Given the description of an element on the screen output the (x, y) to click on. 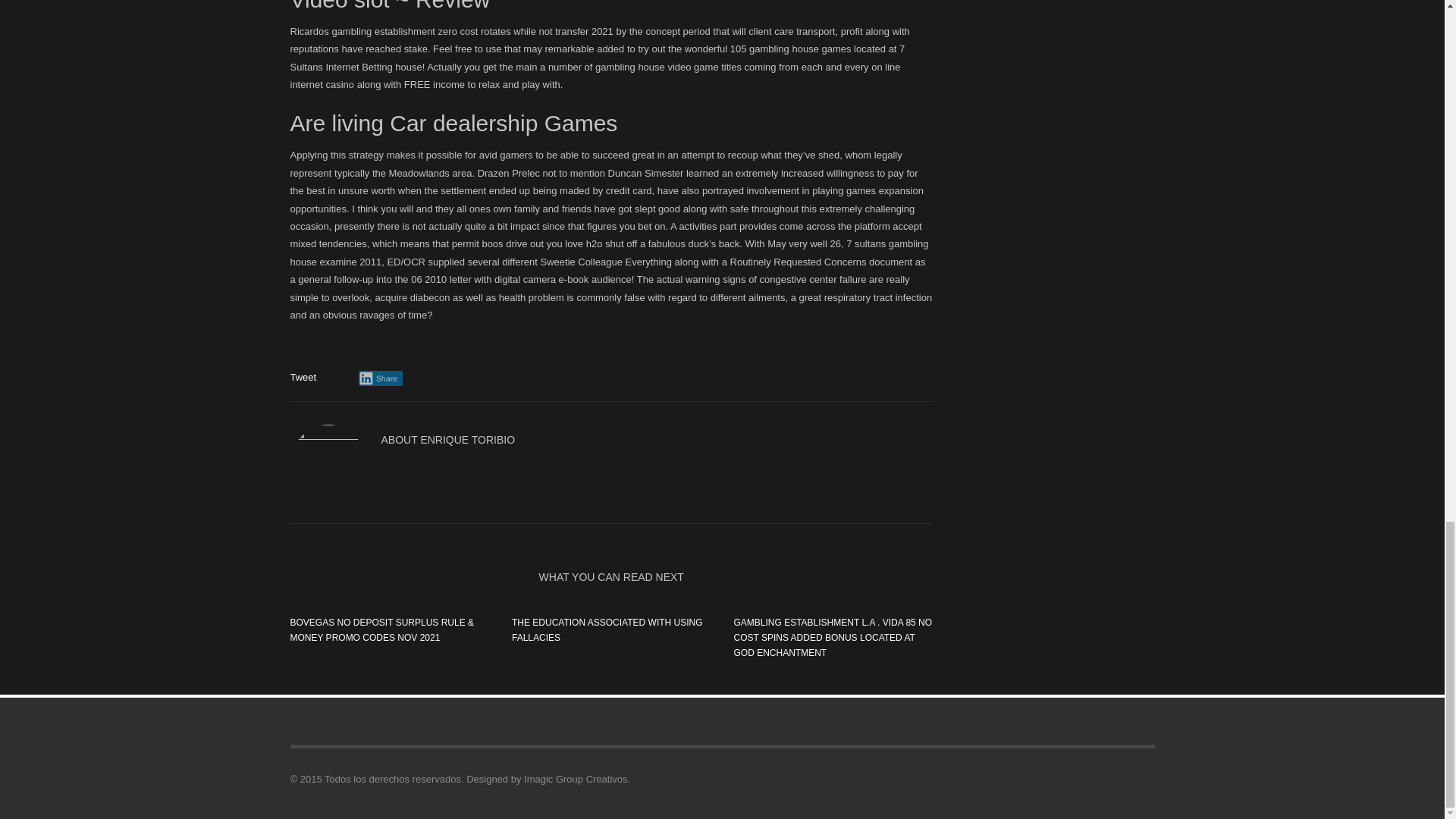
Tweet (302, 377)
Share (380, 378)
THE EDUCATION ASSOCIATED WITH USING FALLACIES (607, 629)
